Given the description of an element on the screen output the (x, y) to click on. 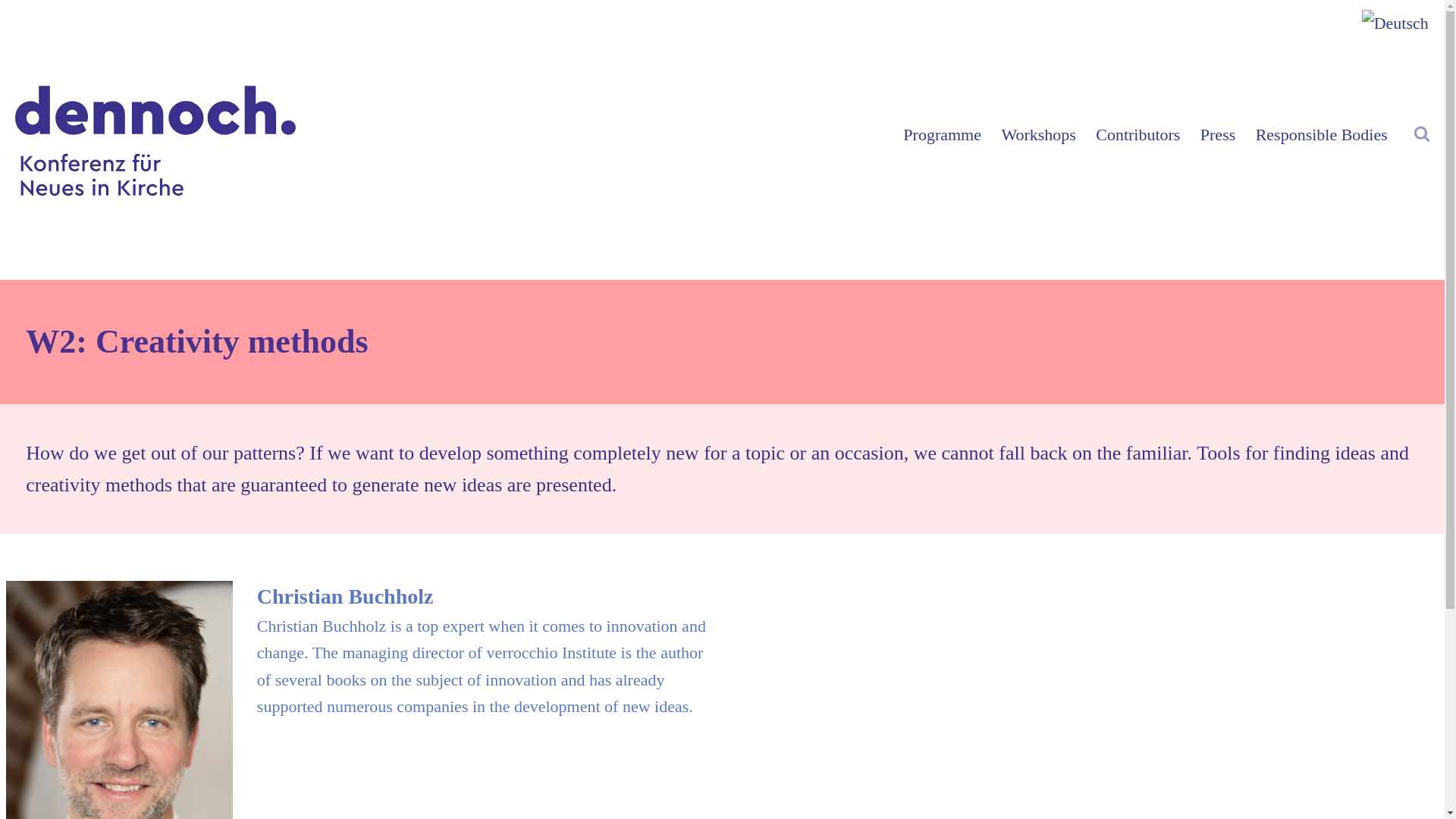
Press (1218, 134)
Programme (942, 134)
Responsible Bodies (1320, 134)
Contributors (1138, 134)
Workshops (1038, 134)
